Given the description of an element on the screen output the (x, y) to click on. 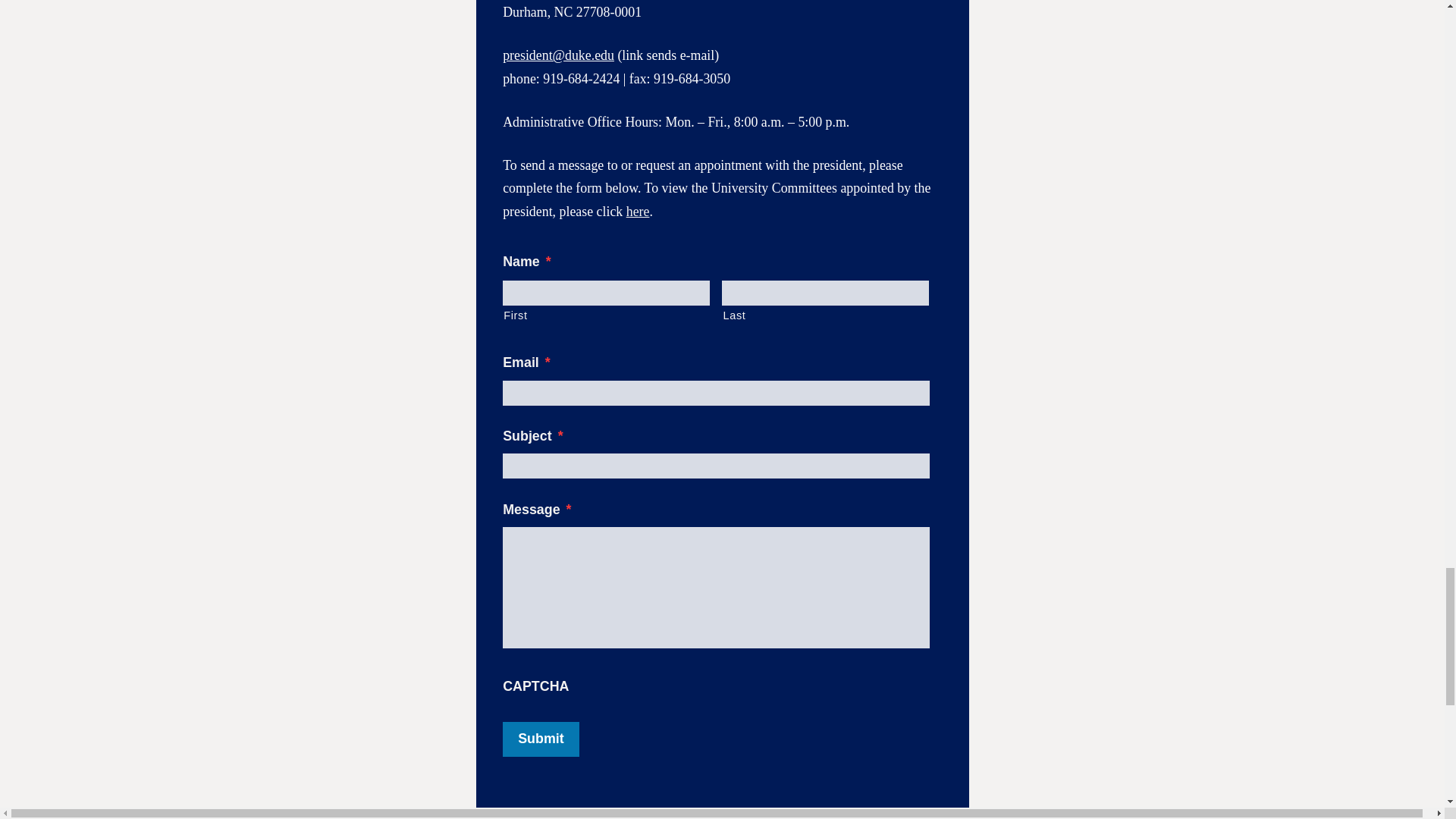
Submit (540, 738)
here (637, 211)
Submit (540, 738)
